Given the description of an element on the screen output the (x, y) to click on. 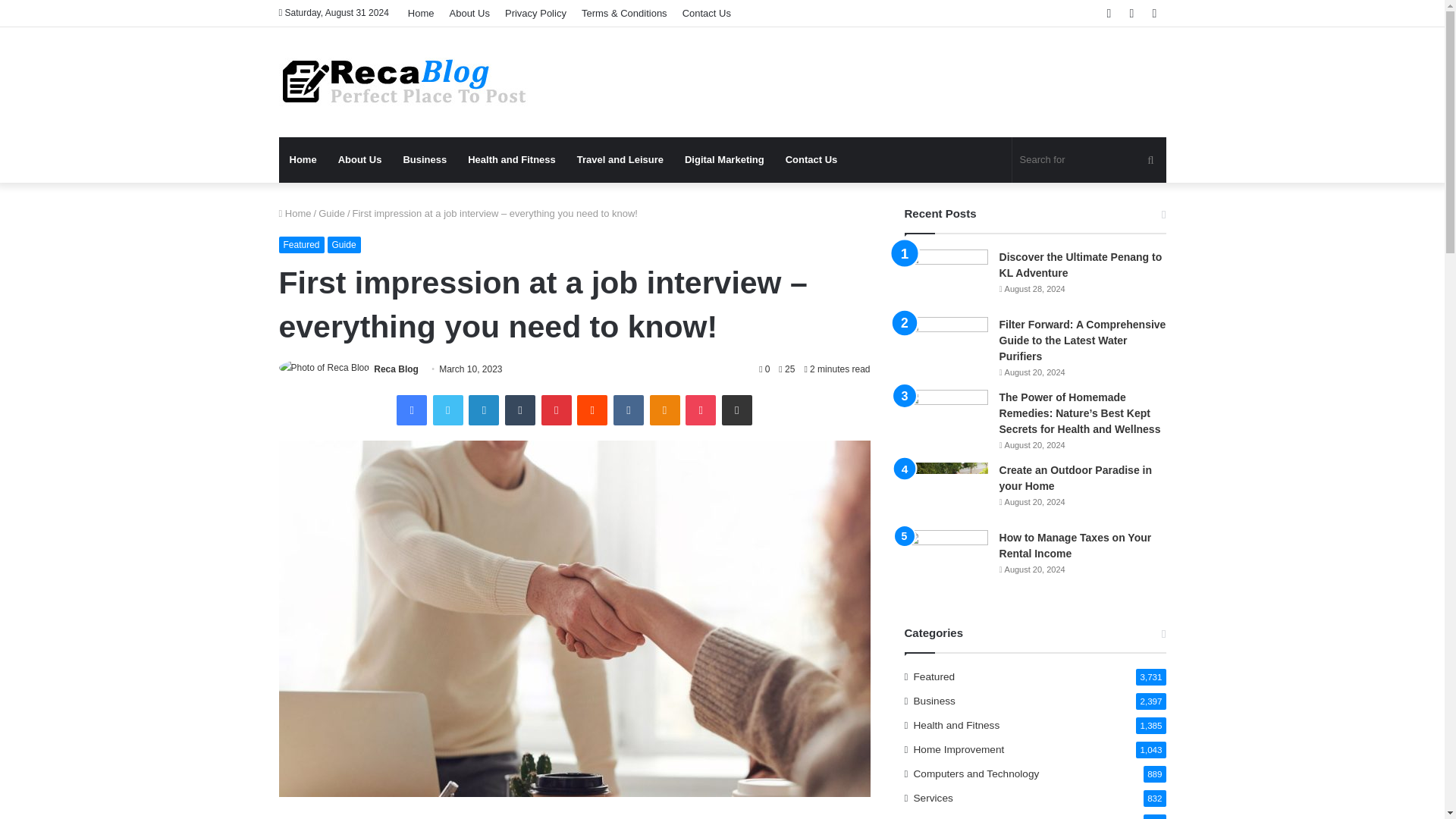
Twitter (447, 409)
VKontakte (627, 409)
Tumblr (520, 409)
About Us (360, 159)
Reca Blog (404, 82)
LinkedIn (483, 409)
Facebook (411, 409)
Share via Email (737, 409)
Featured (301, 244)
Reddit (591, 409)
